Given the description of an element on the screen output the (x, y) to click on. 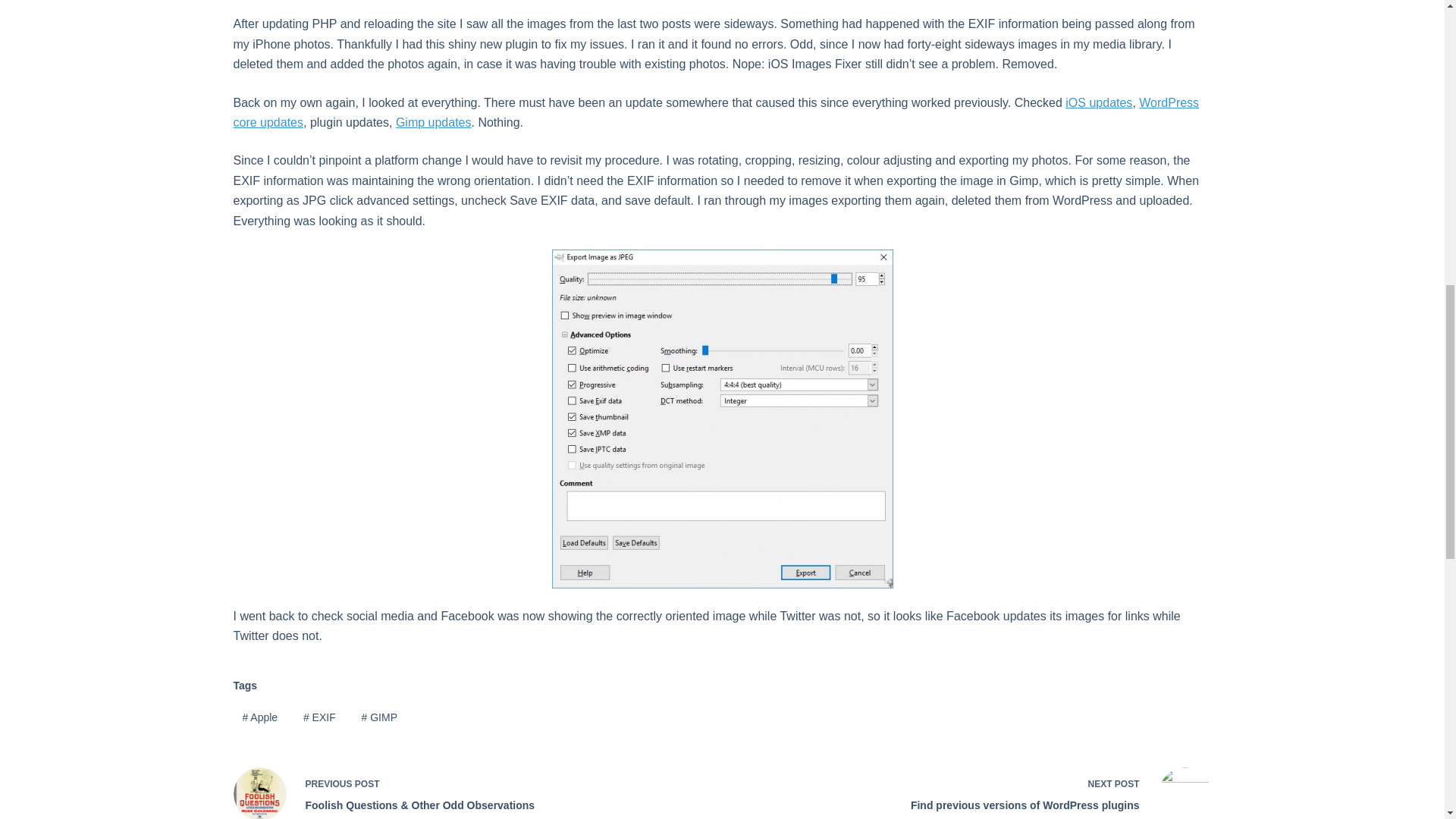
iPhone photos, EXIF, sideways photos and WordPress 1 (722, 418)
WordPress core updates (715, 112)
iOS updates (1098, 102)
Gimp updates (433, 122)
